Given the description of an element on the screen output the (x, y) to click on. 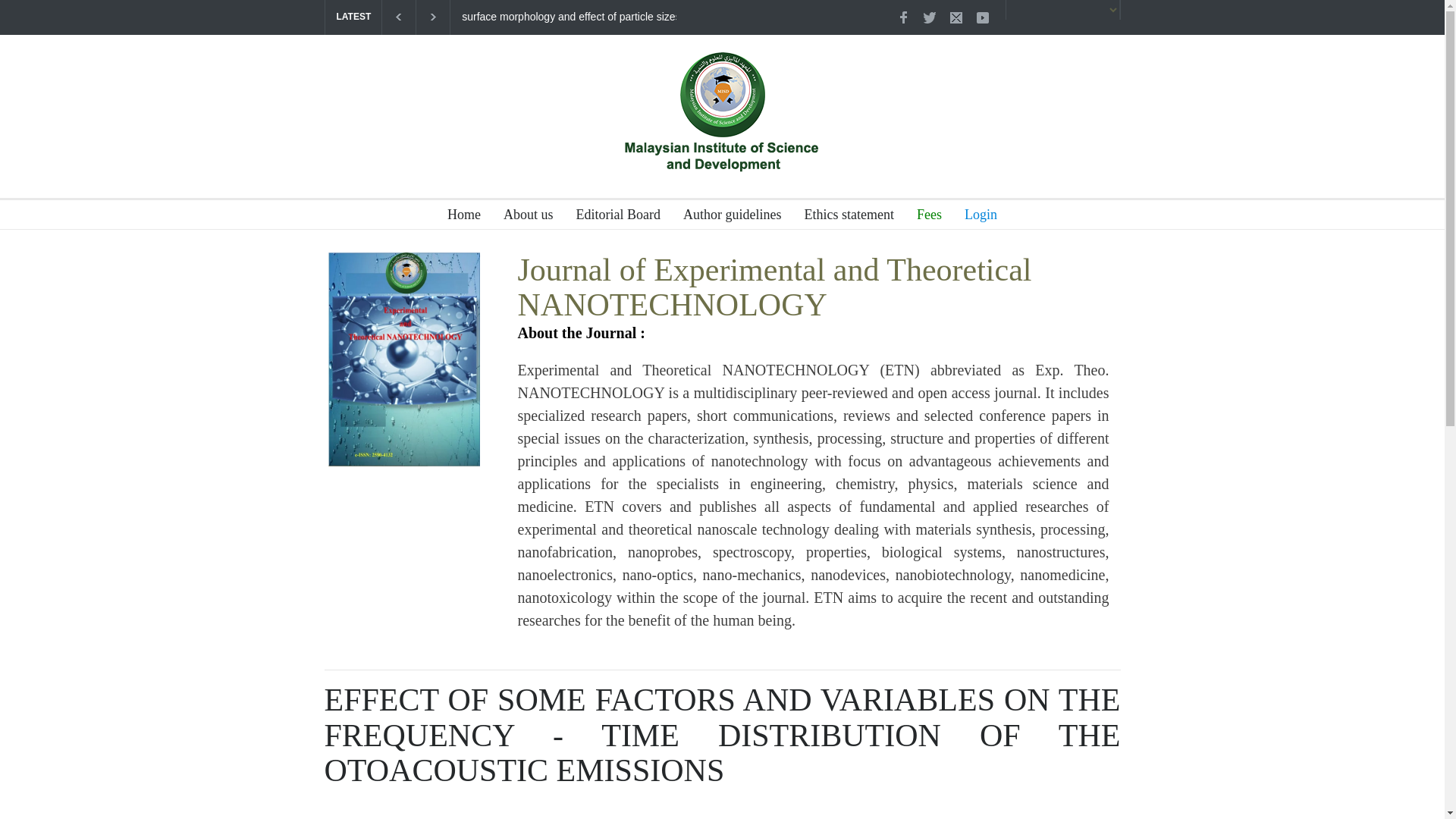
mail (956, 16)
twitter (928, 16)
youtube (981, 16)
facebook (902, 16)
